Given the description of an element on the screen output the (x, y) to click on. 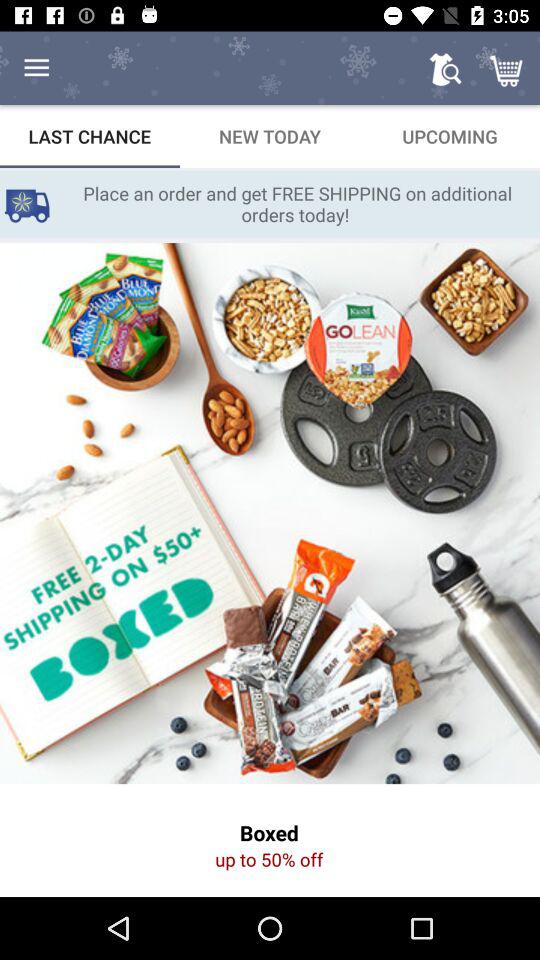
tap item above the upcoming (508, 67)
